Given the description of an element on the screen output the (x, y) to click on. 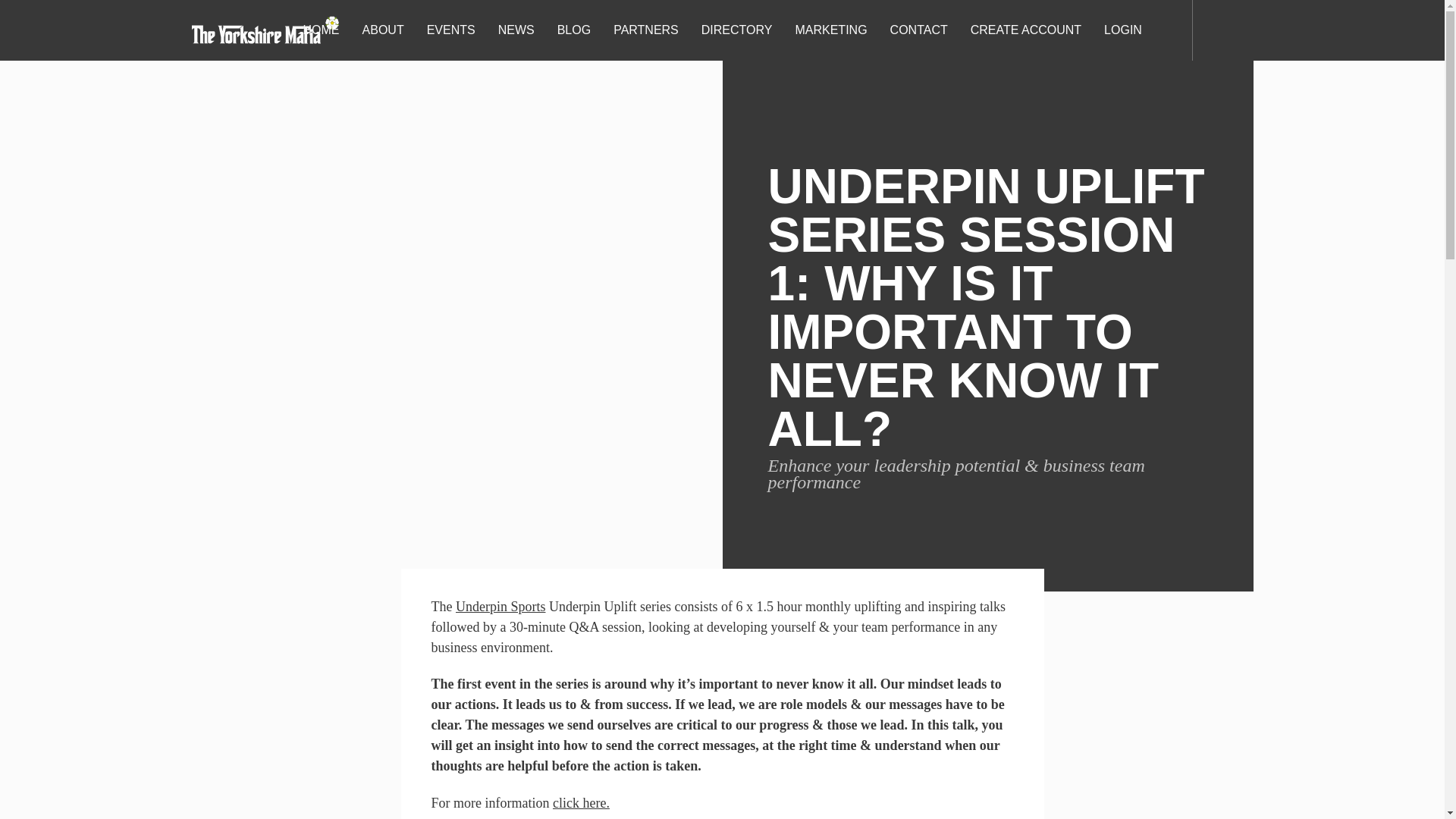
BLOG (573, 28)
CONTACT (919, 28)
LOGIN (1122, 28)
CREATE ACCOUNT (1025, 28)
PARTNERS (646, 28)
NEWS (516, 28)
EVENTS (450, 28)
DIRECTORY (736, 28)
HOME (321, 28)
MARKETING (830, 28)
ABOUT (382, 28)
